Given the description of an element on the screen output the (x, y) to click on. 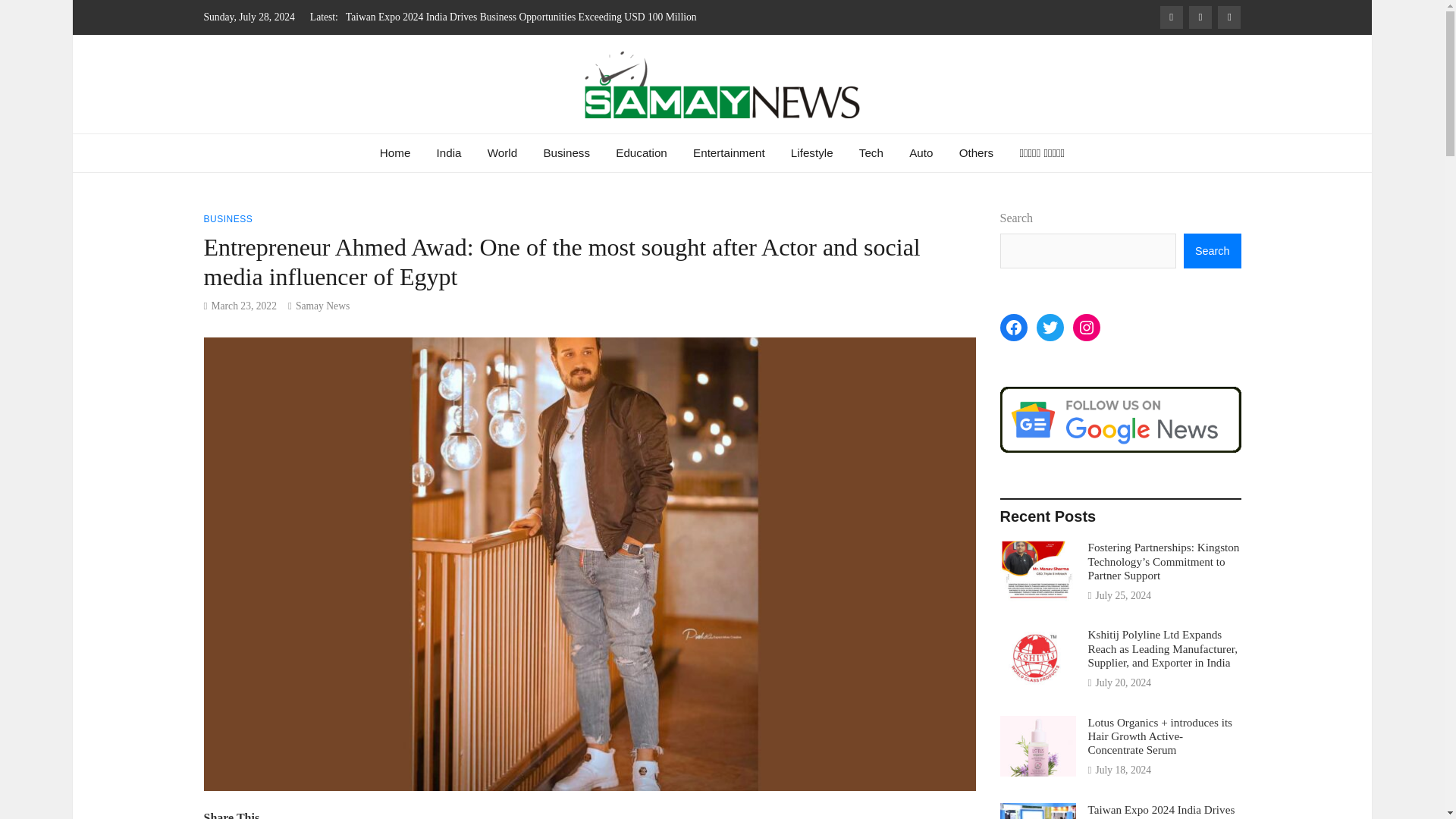
Education (641, 152)
Others (976, 152)
India (449, 152)
Home (395, 152)
Samay News (322, 306)
Tech (871, 152)
Lifestyle (811, 152)
BUSINESS (227, 219)
World (502, 152)
Business (566, 152)
March 23, 2022 (243, 306)
Entertainment (728, 152)
Samay News (314, 139)
